Given the description of an element on the screen output the (x, y) to click on. 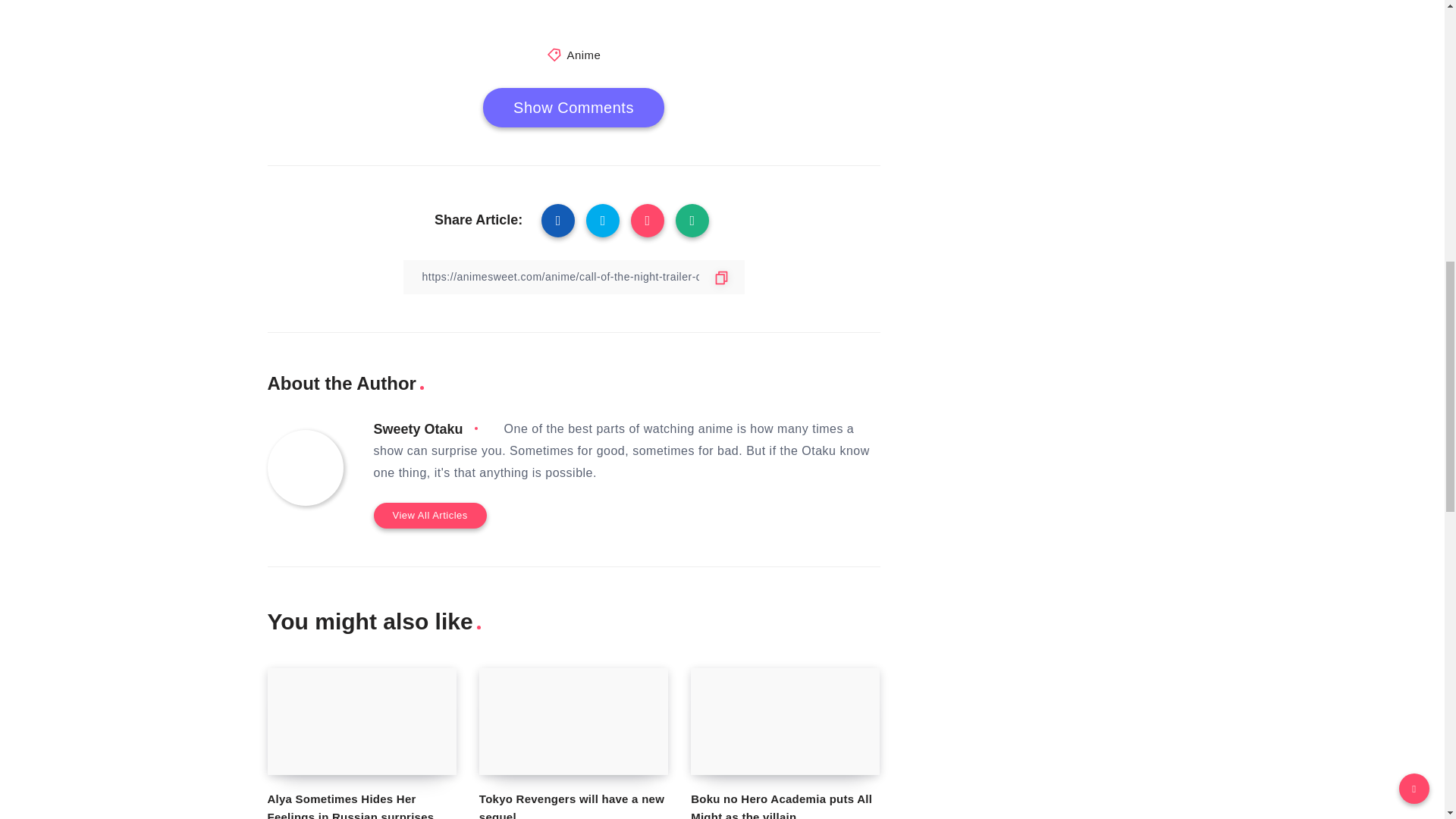
Show Comments (573, 107)
Tokyo Revengers will have a new sequel (571, 805)
Sweety Otaku (417, 428)
Tokyo Revengers will have a new sequel (573, 720)
View All Articles (429, 514)
Anime (582, 54)
Boku no Hero Academia puts All Might as the villain (784, 720)
Boku no Hero Academia puts All Might as the villain (781, 805)
